Given the description of an element on the screen output the (x, y) to click on. 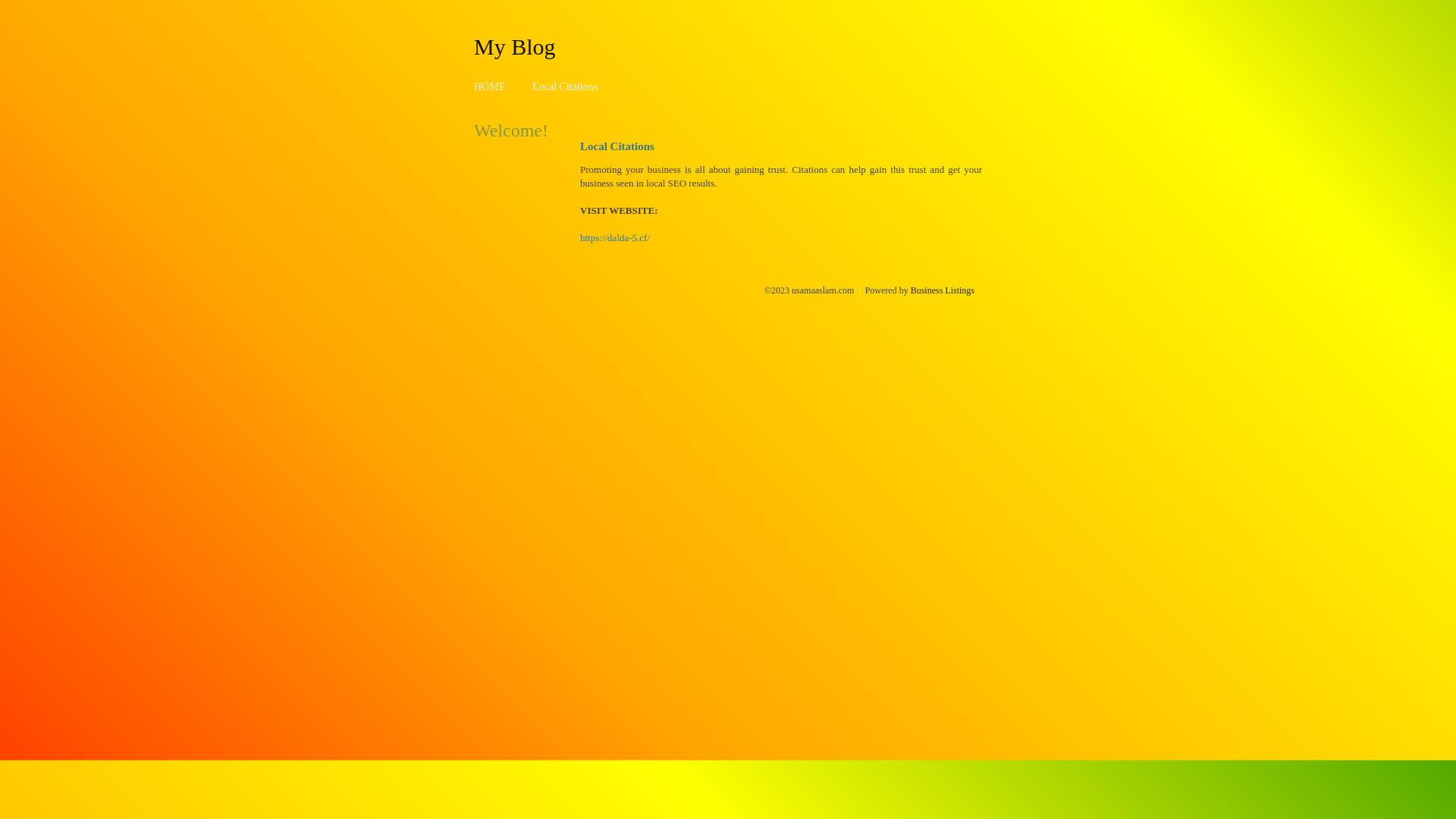
Local Citations Element type: text (564, 86)
My Blog Element type: text (514, 46)
HOME Element type: text (489, 86)
Business Listings Element type: text (942, 290)
https://dalda-5.cf/ Element type: text (614, 237)
